Given the description of an element on the screen output the (x, y) to click on. 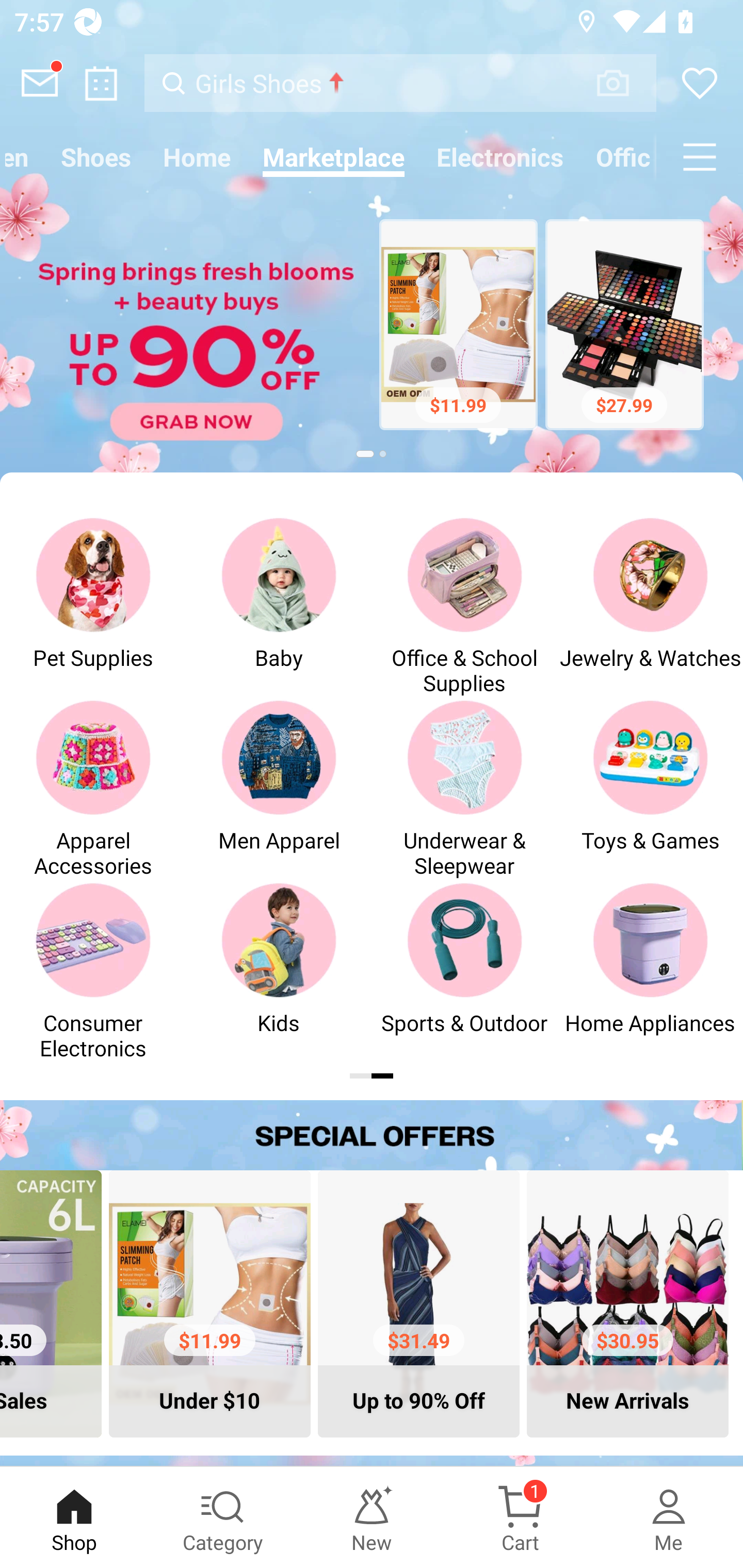
Wishlist (699, 82)
VISUAL SEARCH (623, 82)
Shoes (95, 156)
Home (196, 156)
Marketplace (333, 156)
Electronics (500, 156)
Office (618, 156)
$11.99 $27.99 (371, 327)
Pet Supplies (92, 605)
Baby (278, 605)
Office & School Supplies (464, 605)
Jewelry & Watches (650, 605)
Apparel Accessories (92, 788)
Men Apparel (278, 788)
Underwear & Sleepwear (464, 788)
Toys & Games (650, 788)
Consumer Electronics (92, 971)
Kids (278, 971)
Sports & Outdoor (464, 971)
Home Appliances (650, 971)
$11.99 Under $10 (209, 1303)
$31.49 Up to 90% Off (418, 1303)
$30.95 New Arrivals (627, 1303)
Category (222, 1517)
New (371, 1517)
Cart 1 Cart (519, 1517)
Me (668, 1517)
